Given the description of an element on the screen output the (x, y) to click on. 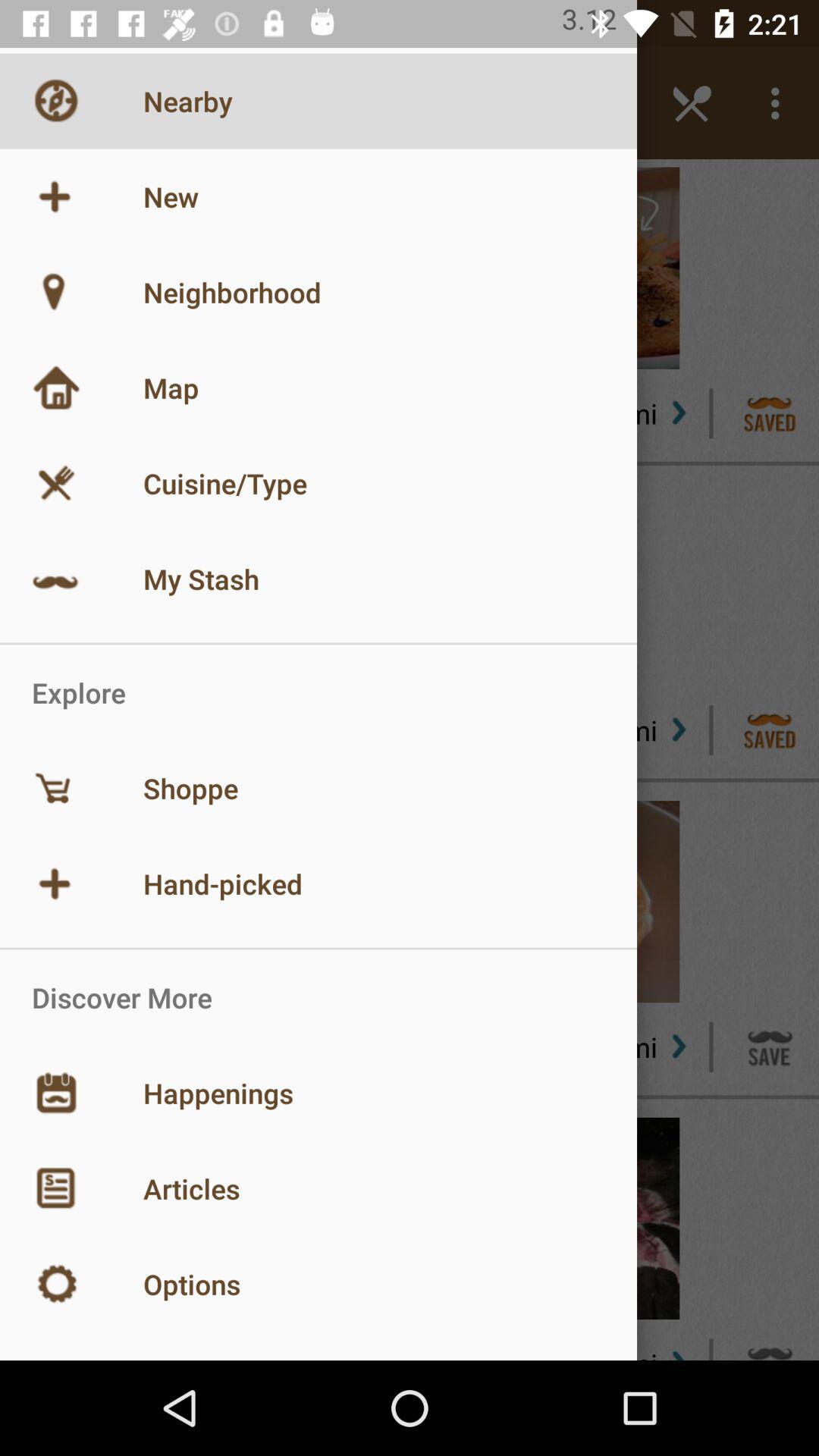
select the option that has three dots (779, 103)
